Given the description of an element on the screen output the (x, y) to click on. 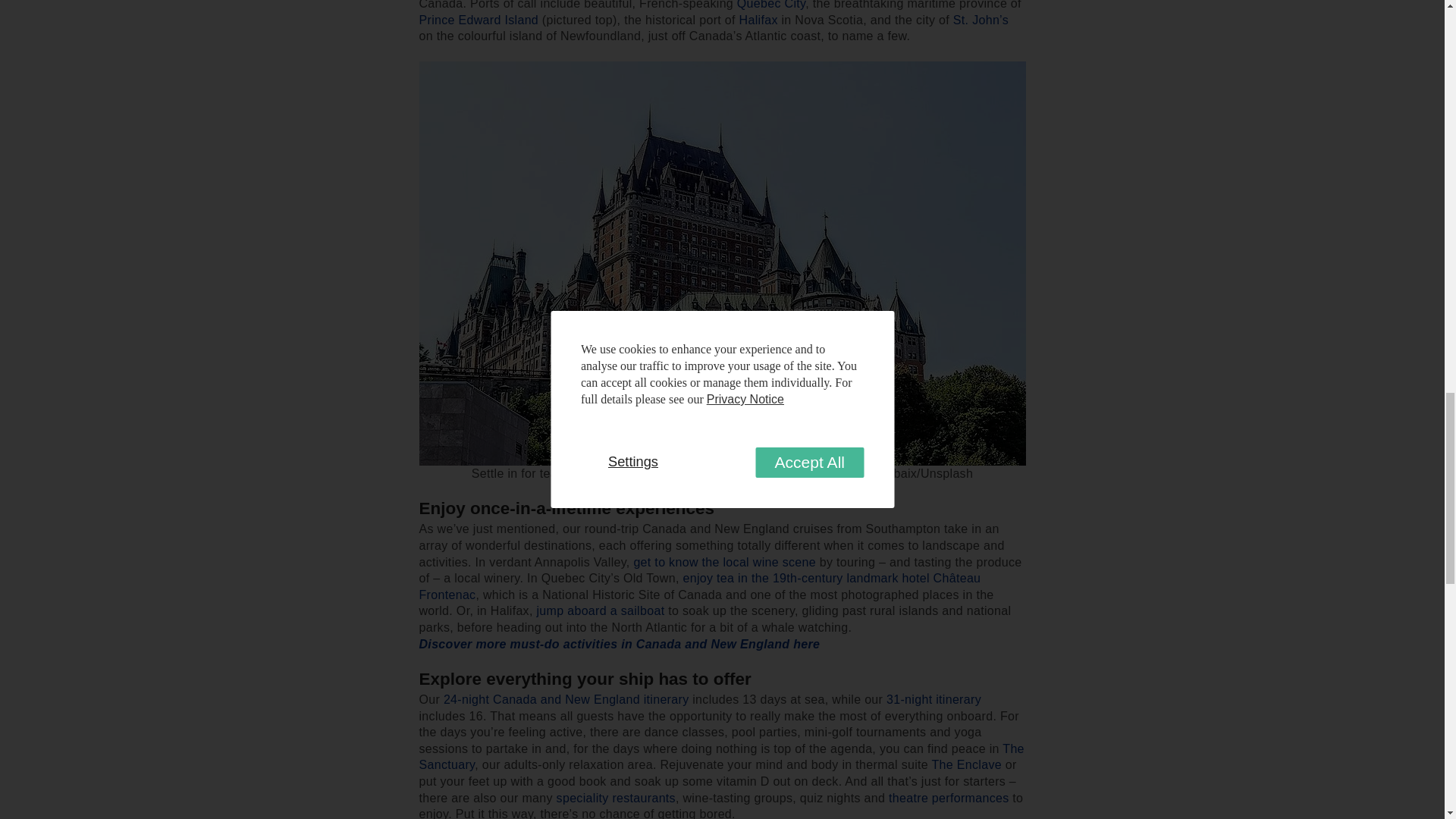
Quebec City (770, 4)
get to know the local wine scene (724, 562)
Halifax (758, 19)
Prince Edward Island (478, 19)
